Given the description of an element on the screen output the (x, y) to click on. 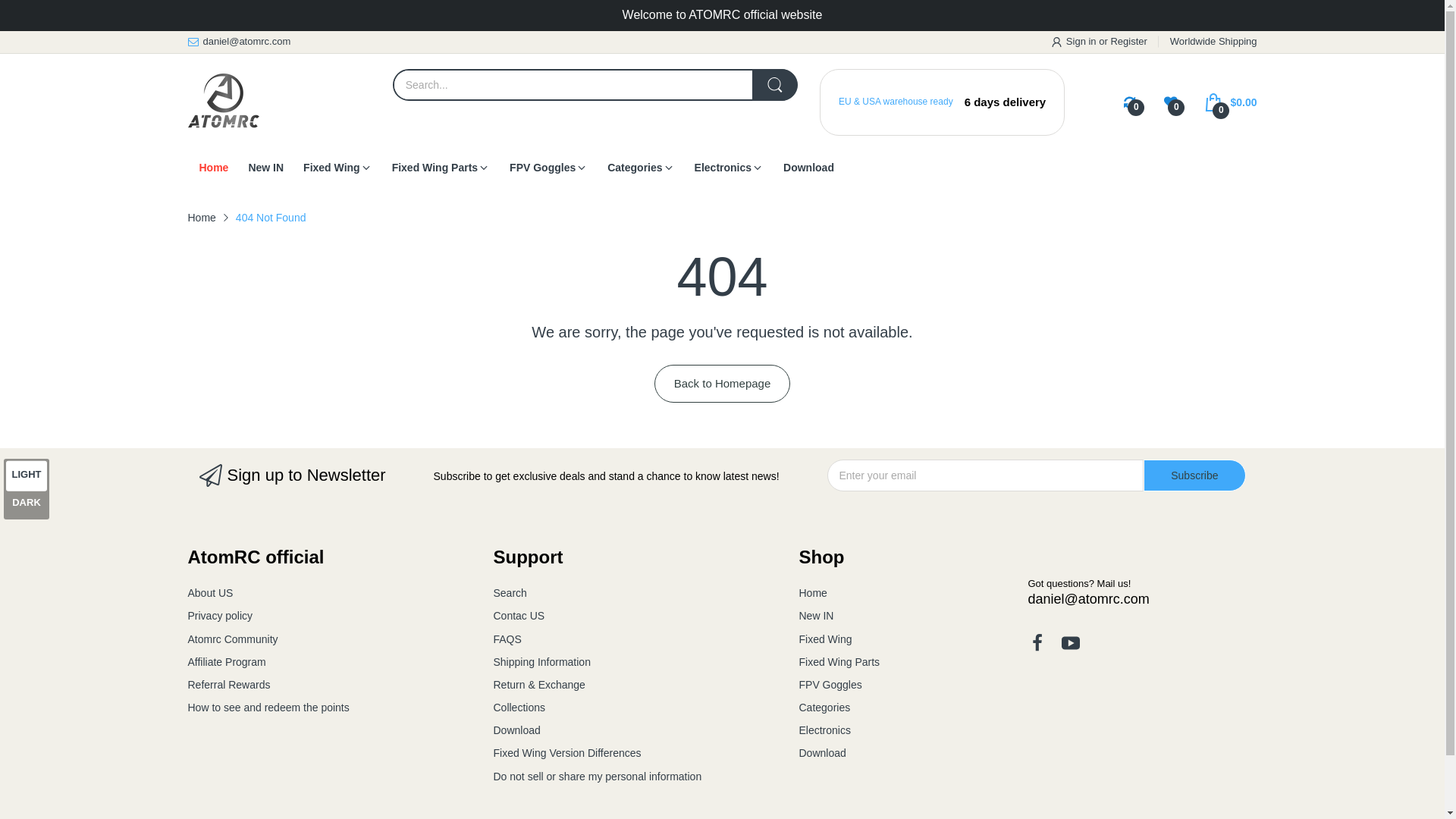
Atomrc Community (232, 639)
FAQS (507, 639)
Fixed Wing Parts (434, 167)
About US (209, 592)
Referral Rewards (228, 684)
Contac US (518, 615)
Subscribe (1193, 475)
Register (1128, 41)
Shipping Information (541, 662)
Download (808, 167)
